Given the description of an element on the screen output the (x, y) to click on. 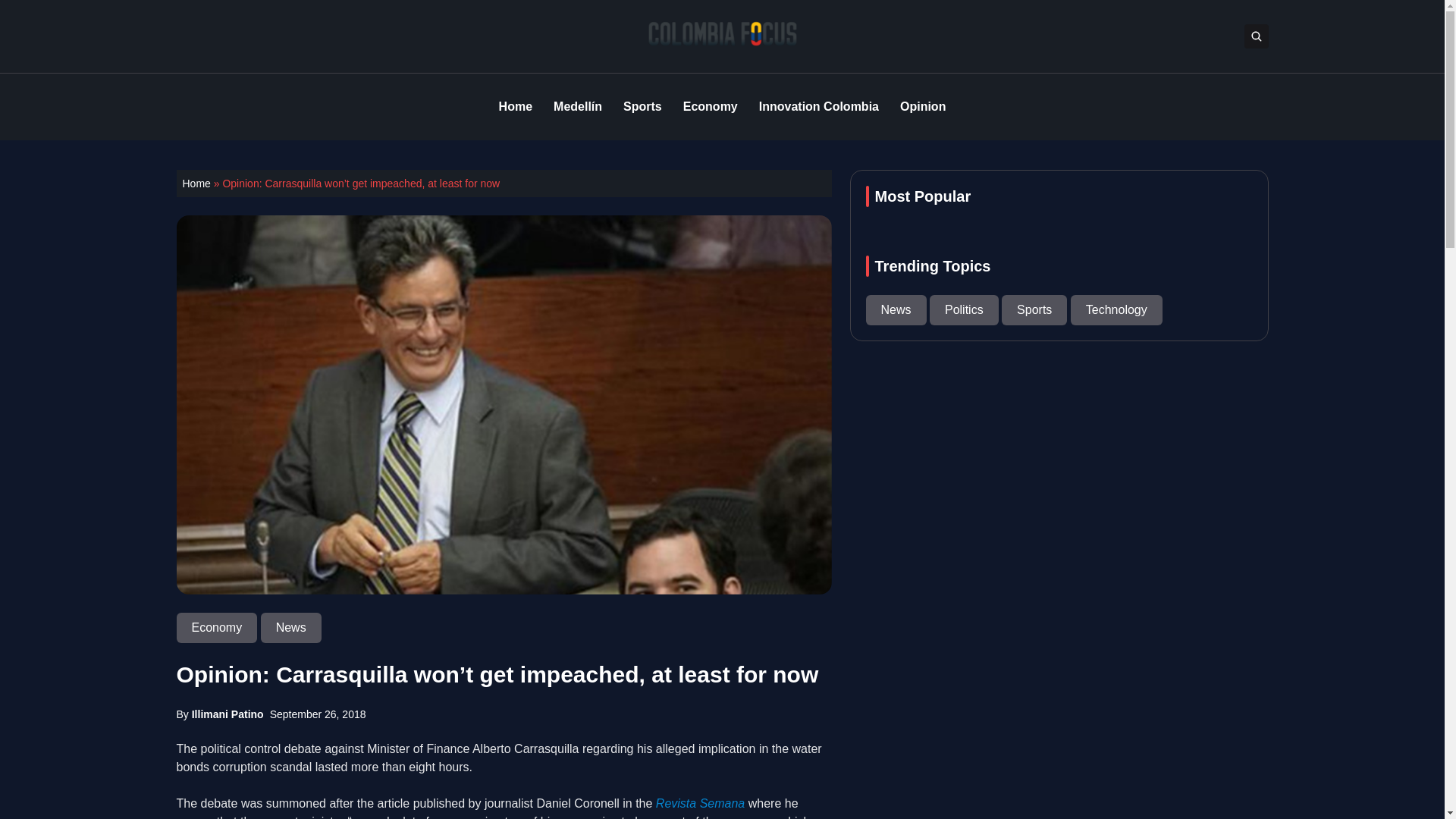
Home (195, 183)
Innovation Colombia (818, 106)
Illimani Patino (227, 714)
Revista Semana (702, 802)
News (290, 626)
Home (515, 106)
Economy (218, 626)
Opinion (921, 106)
Sports (642, 106)
Economy (710, 106)
